Given the description of an element on the screen output the (x, y) to click on. 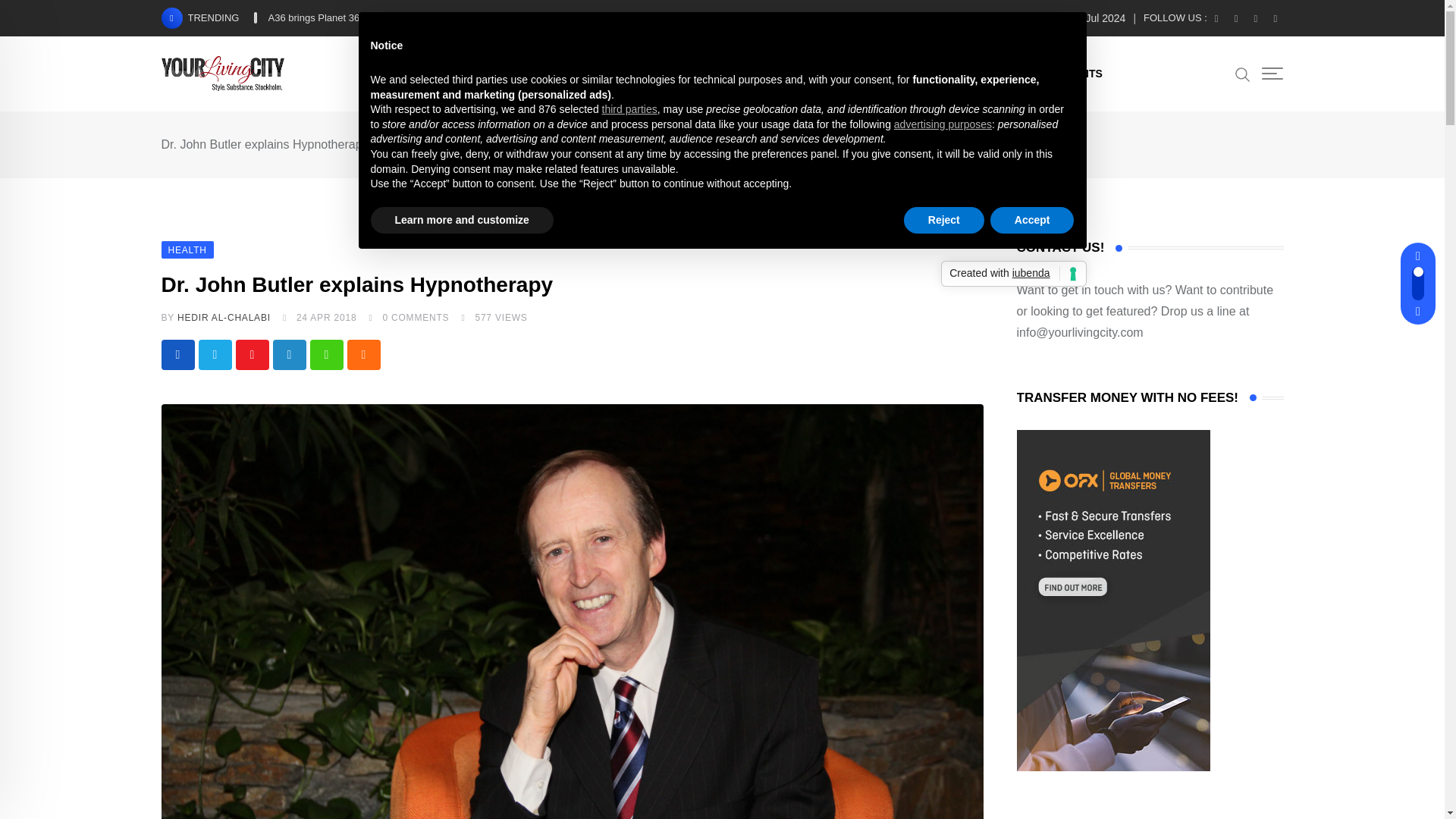
Culture (660, 73)
Lifestyle (498, 73)
Dining Out (580, 73)
Search (1242, 73)
iubenda - Cookie Policy and Cookie Compliance Management (1013, 273)
Community (805, 73)
Posts by Hedir Al-chalabi (223, 317)
